Given the description of an element on the screen output the (x, y) to click on. 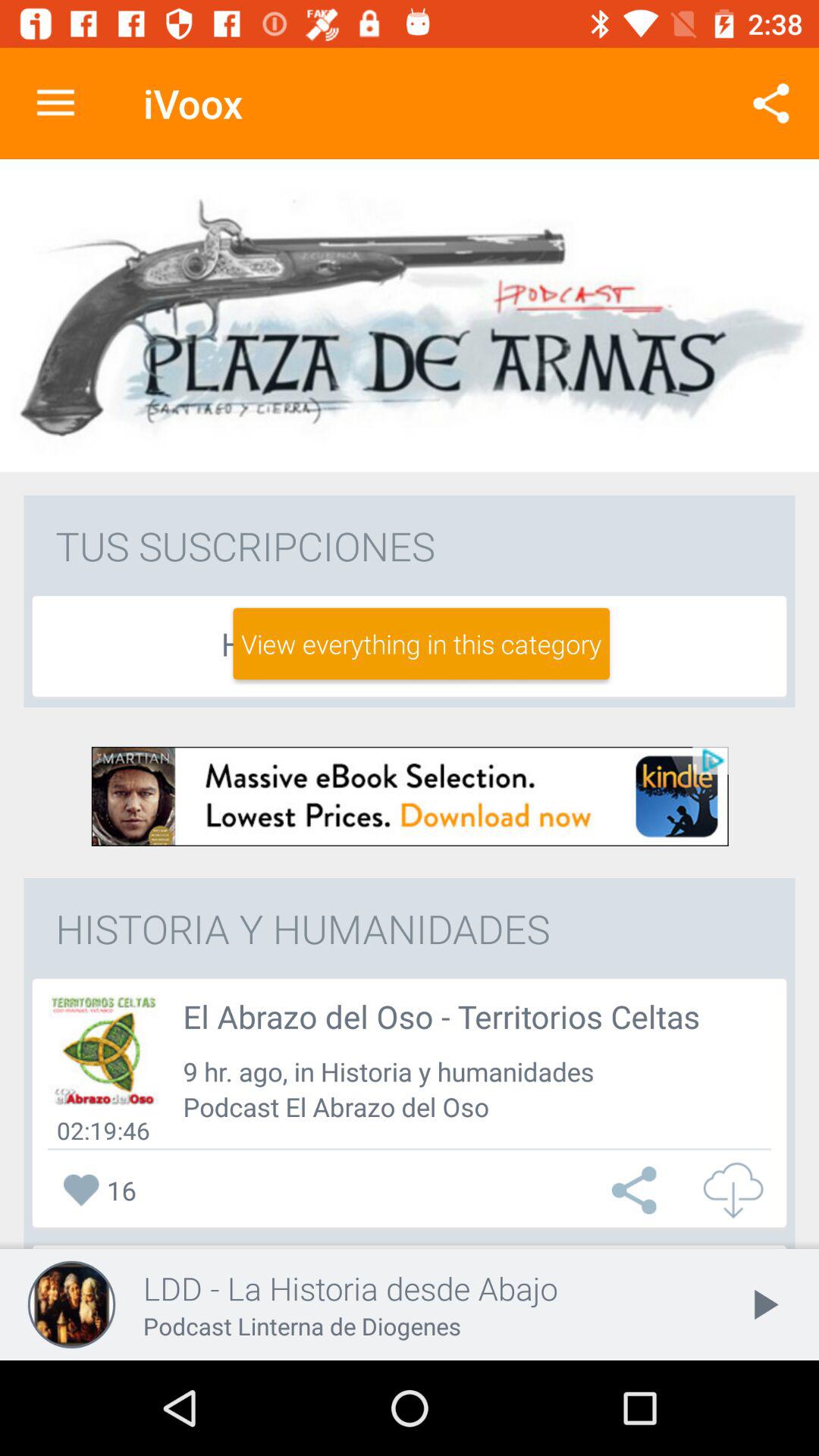
advertisements display (409, 796)
